Given the description of an element on the screen output the (x, y) to click on. 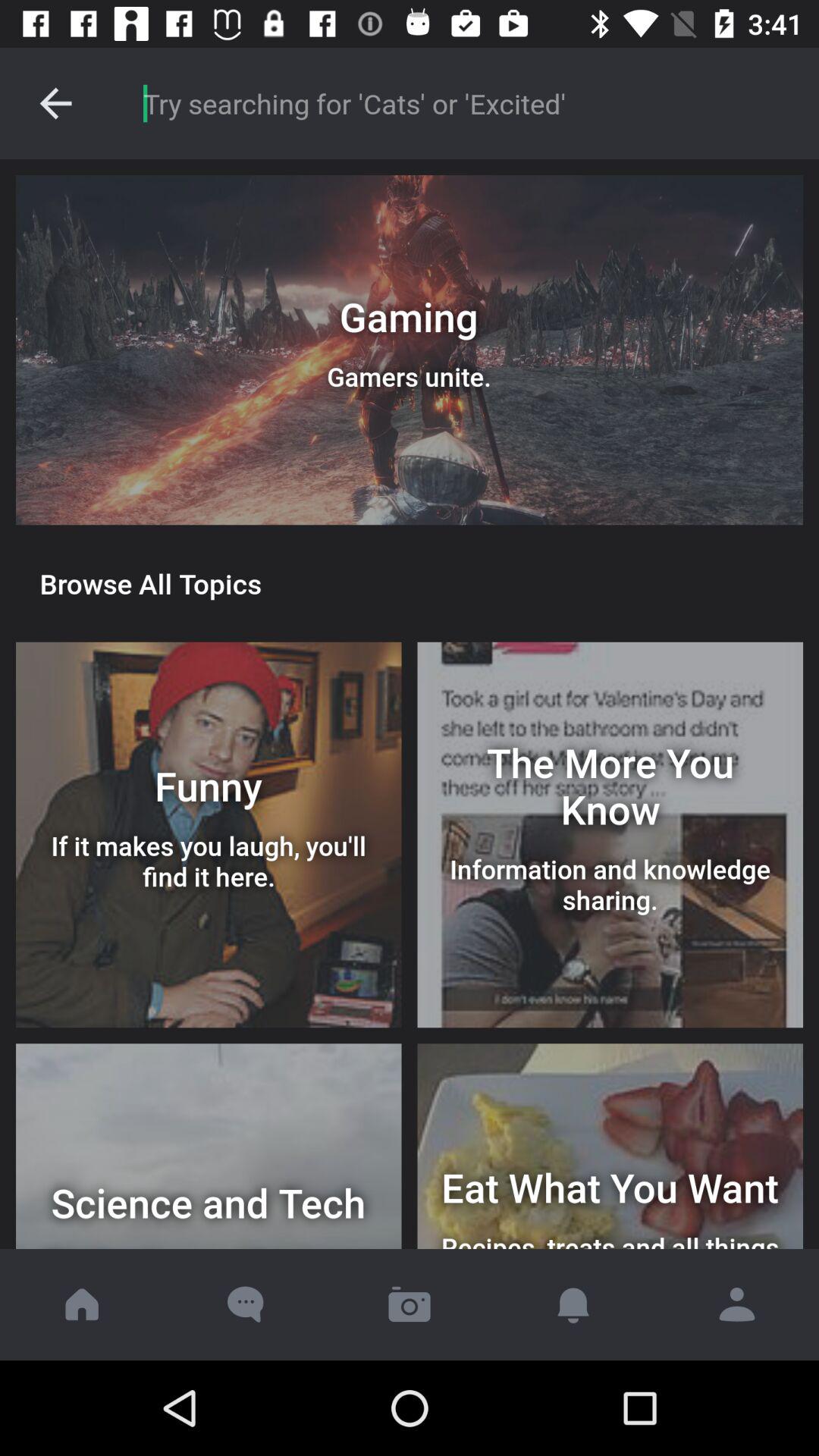
click profile icon (737, 1304)
